Given the description of an element on the screen output the (x, y) to click on. 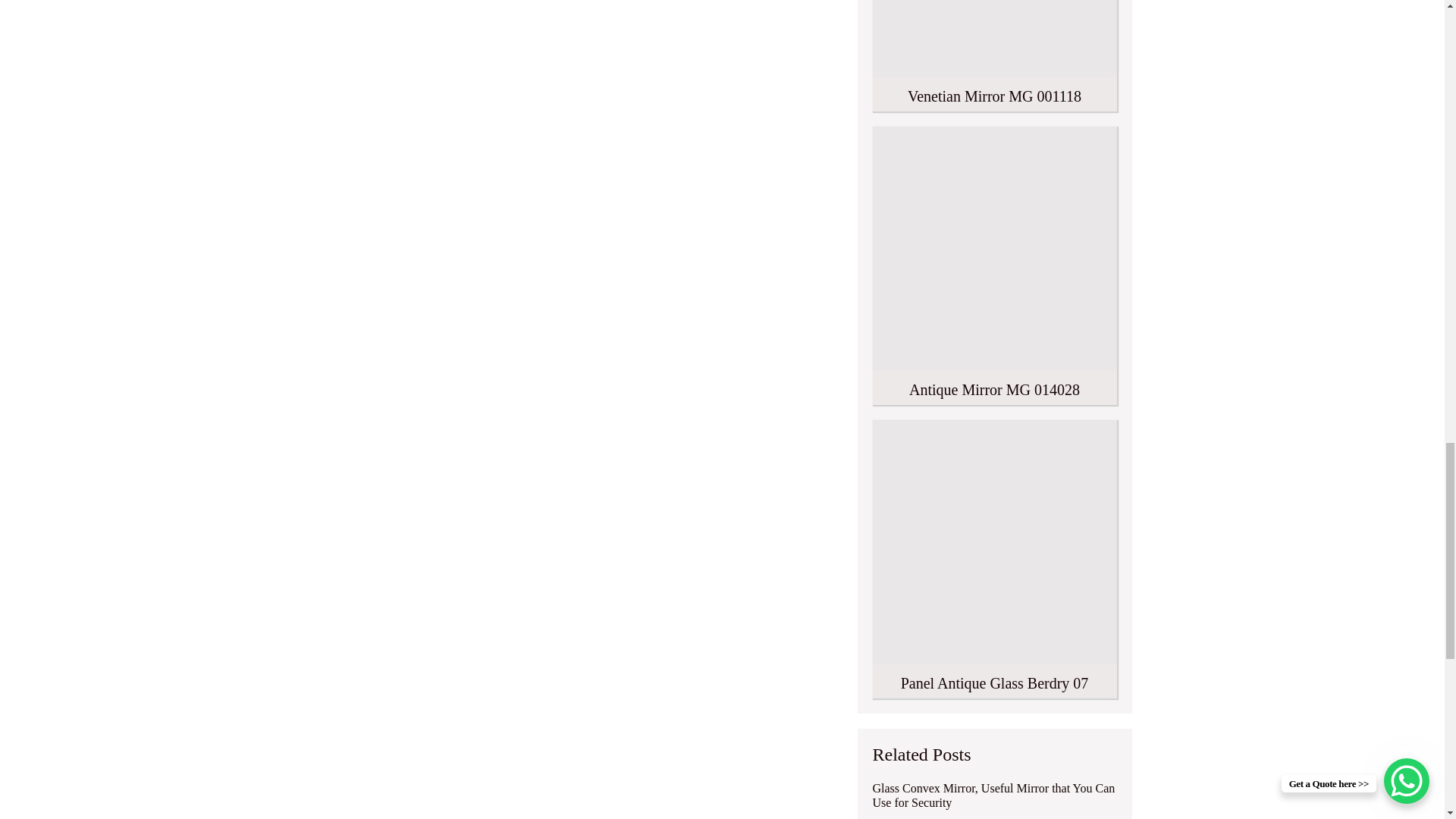
Venetian Mirror MG 001118 (994, 55)
